Given the description of an element on the screen output the (x, y) to click on. 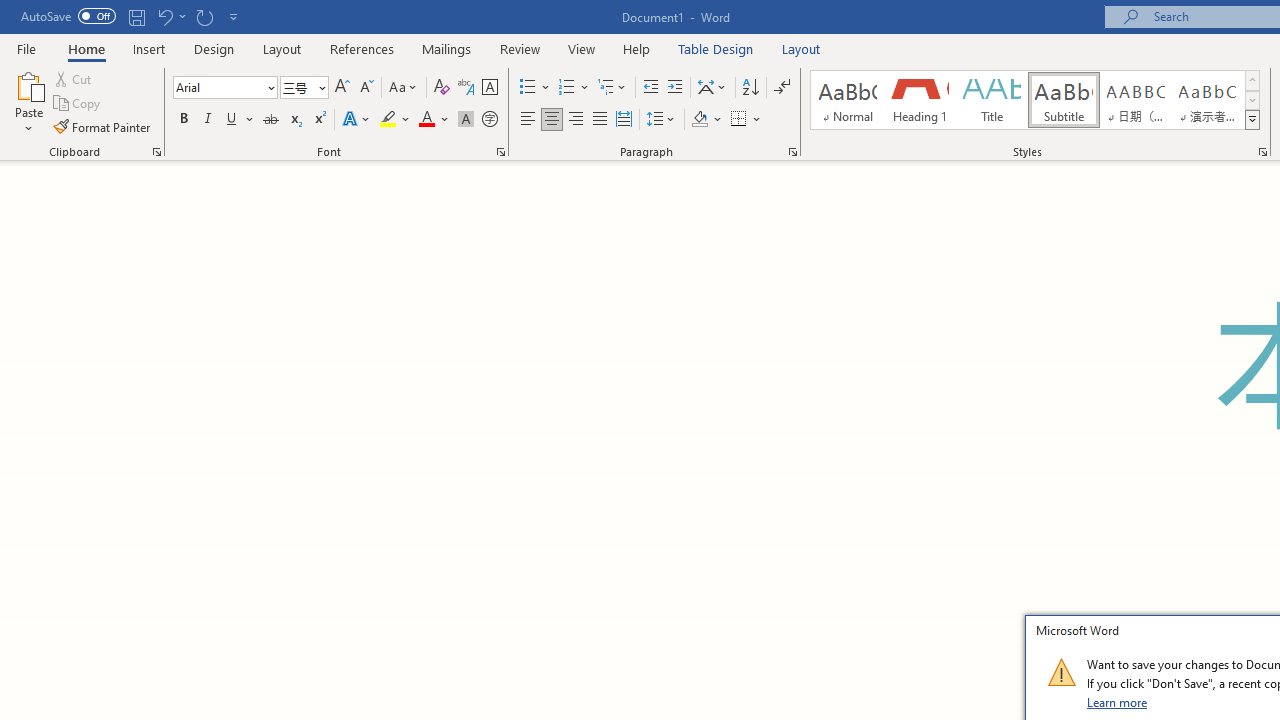
Character Shading (465, 119)
Phonetic Guide... (465, 87)
Format Painter (103, 126)
Strikethrough (270, 119)
Clear Formatting (442, 87)
Row Down (1252, 100)
Enclose Characters... (489, 119)
Text Highlight Color Yellow (388, 119)
Open (320, 87)
Align Right (575, 119)
Distributed (623, 119)
